Given the description of an element on the screen output the (x, y) to click on. 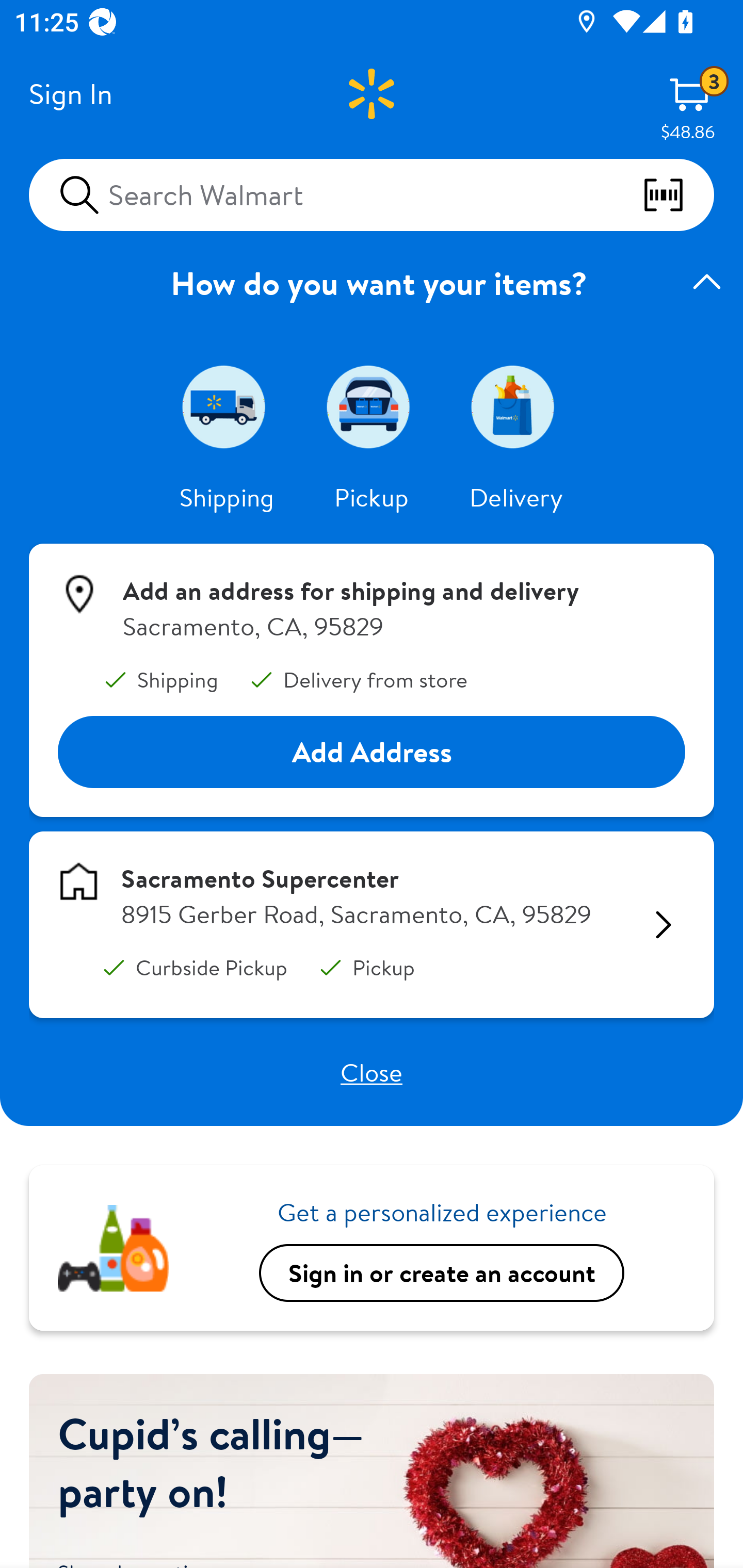
Sign In (70, 93)
Search Walmart scan barcodes qr codes and more (371, 194)
scan barcodes qr codes and more (677, 195)
How do you want your items? expanded (371, 282)
Shipping 1 of 3 (226, 406)
Pickup 2 of 3 (371, 406)
Delivery 3 of 3 (515, 406)
Add Address (371, 752)
Close (371, 1072)
Sign in or create an account (441, 1272)
